Given the description of an element on the screen output the (x, y) to click on. 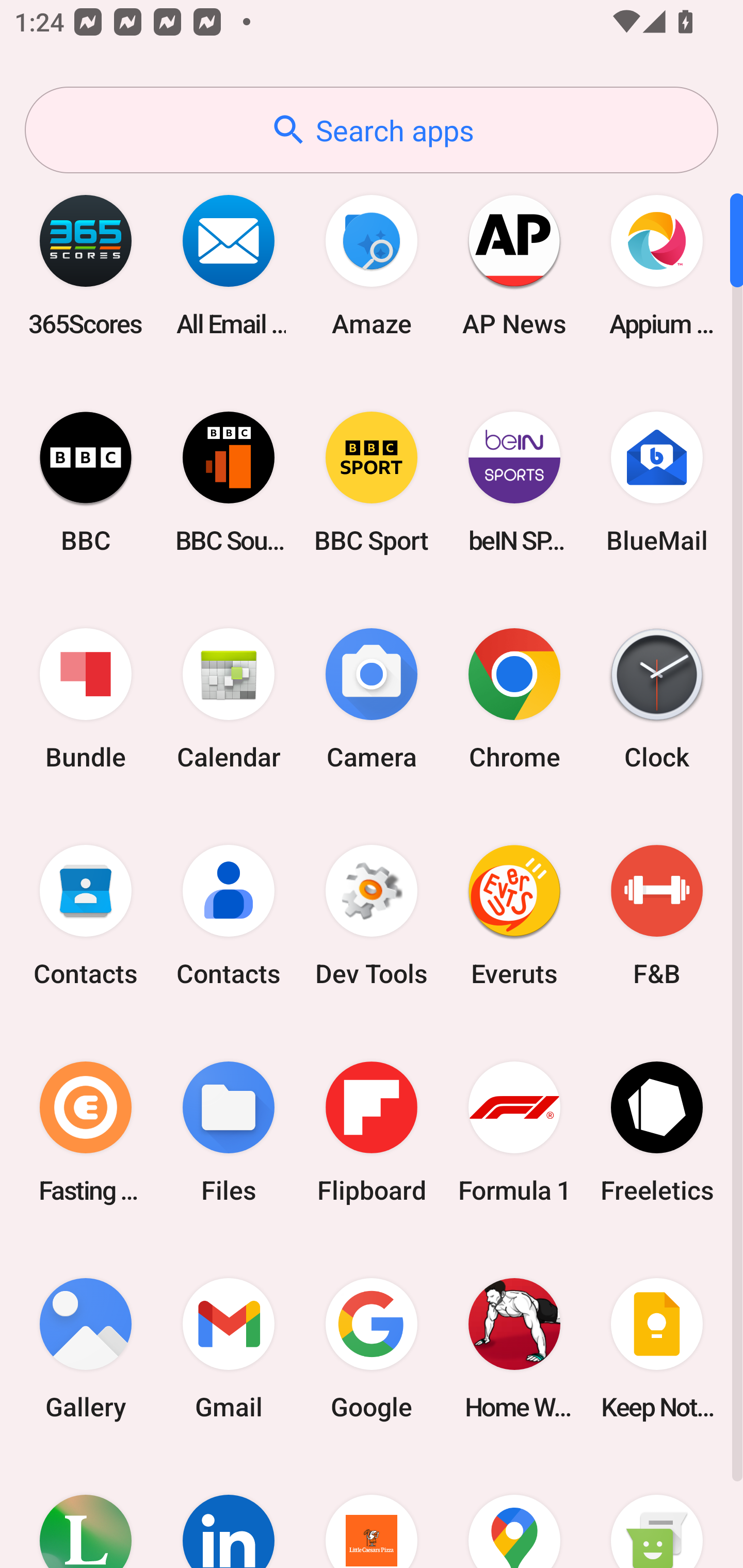
  Search apps (371, 130)
365Scores (85, 264)
All Email Connect (228, 264)
Amaze (371, 264)
AP News (514, 264)
Appium Settings (656, 264)
BBC (85, 482)
BBC Sounds (228, 482)
BBC Sport (371, 482)
beIN SPORTS (514, 482)
BlueMail (656, 482)
Bundle (85, 699)
Calendar (228, 699)
Camera (371, 699)
Chrome (514, 699)
Clock (656, 699)
Contacts (85, 915)
Contacts (228, 915)
Dev Tools (371, 915)
Everuts (514, 915)
F&B (656, 915)
Fasting Coach (85, 1131)
Files (228, 1131)
Flipboard (371, 1131)
Formula 1 (514, 1131)
Freeletics (656, 1131)
Gallery (85, 1348)
Gmail (228, 1348)
Google (371, 1348)
Home Workout (514, 1348)
Keep Notes (656, 1348)
Lifesum (85, 1512)
LinkedIn (228, 1512)
Little Caesars Pizza (371, 1512)
Maps (514, 1512)
Messaging (656, 1512)
